Given the description of an element on the screen output the (x, y) to click on. 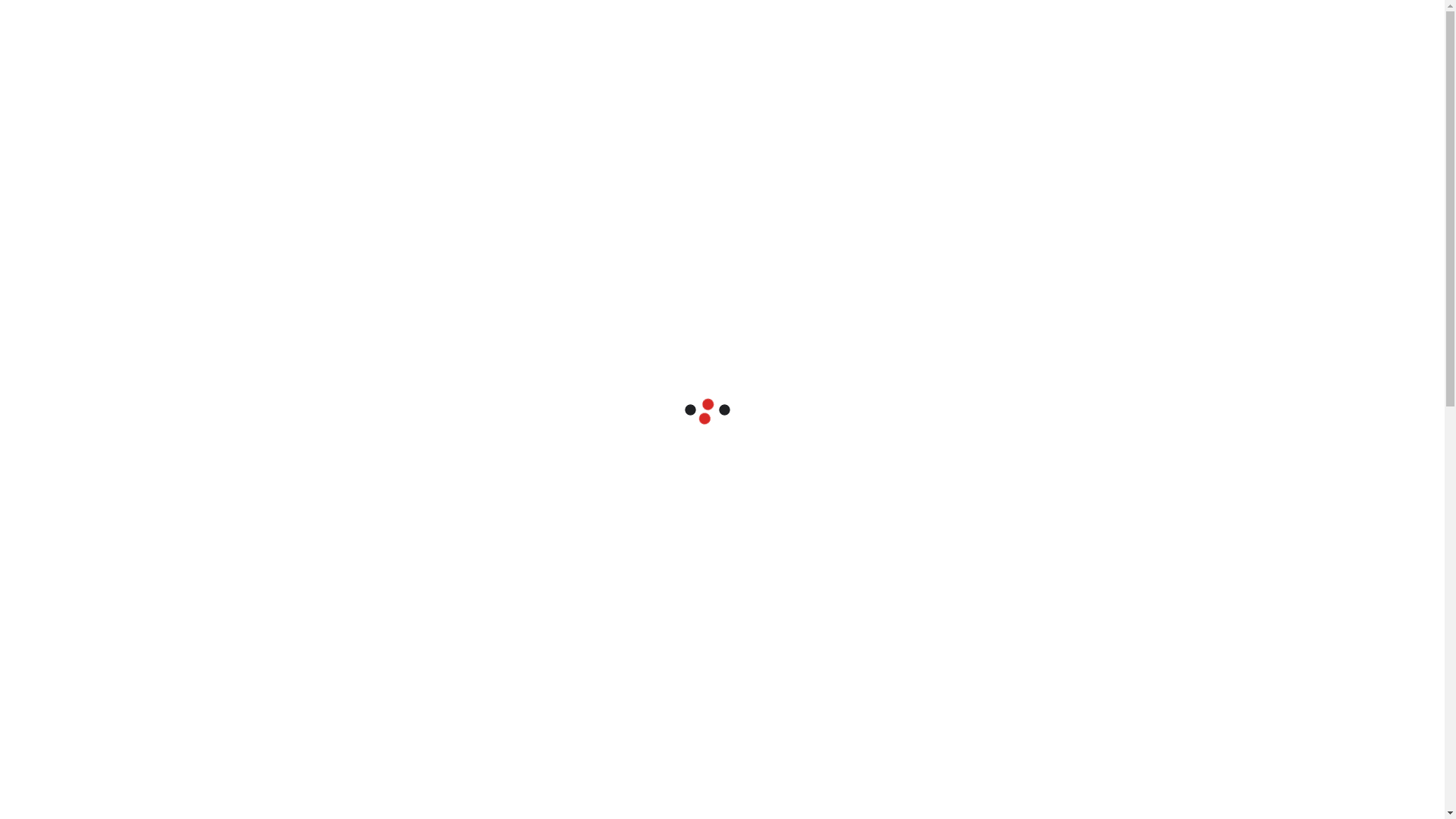
Fitness Element type: text (981, 611)
WORKOUTS Element type: text (470, 100)
Search Element type: text (1176, 183)
Search Element type: text (1176, 733)
HOME Element type: text (264, 100)
Search Element type: text (1168, 142)
FITNESS Element type: text (393, 100)
Search Element type: hover (1195, 100)
Workouts Element type: text (987, 683)
Search Element type: text (910, 284)
Health Element type: text (979, 647)
HEALTH Element type: text (325, 100)
Is Too Much Sitting Bad for Your Health? Element type: text (1058, 401)
